Given the description of an element on the screen output the (x, y) to click on. 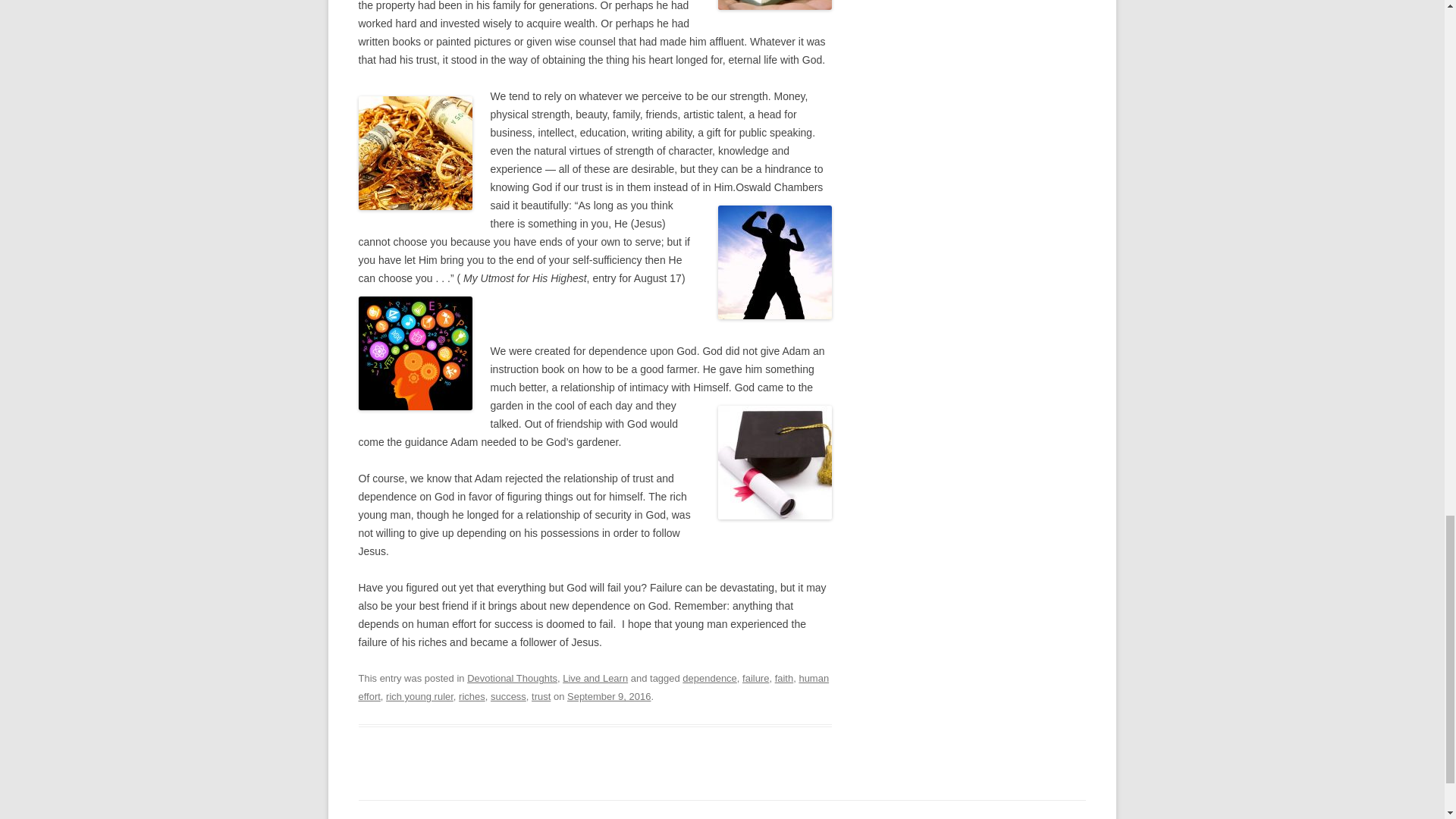
dependence (709, 677)
riches (471, 696)
September 9, 2016 (608, 696)
faith (783, 677)
3:06 pm (608, 696)
success (507, 696)
trust (540, 696)
human effort (593, 686)
rich young ruler (418, 696)
failure (755, 677)
